Given the description of an element on the screen output the (x, y) to click on. 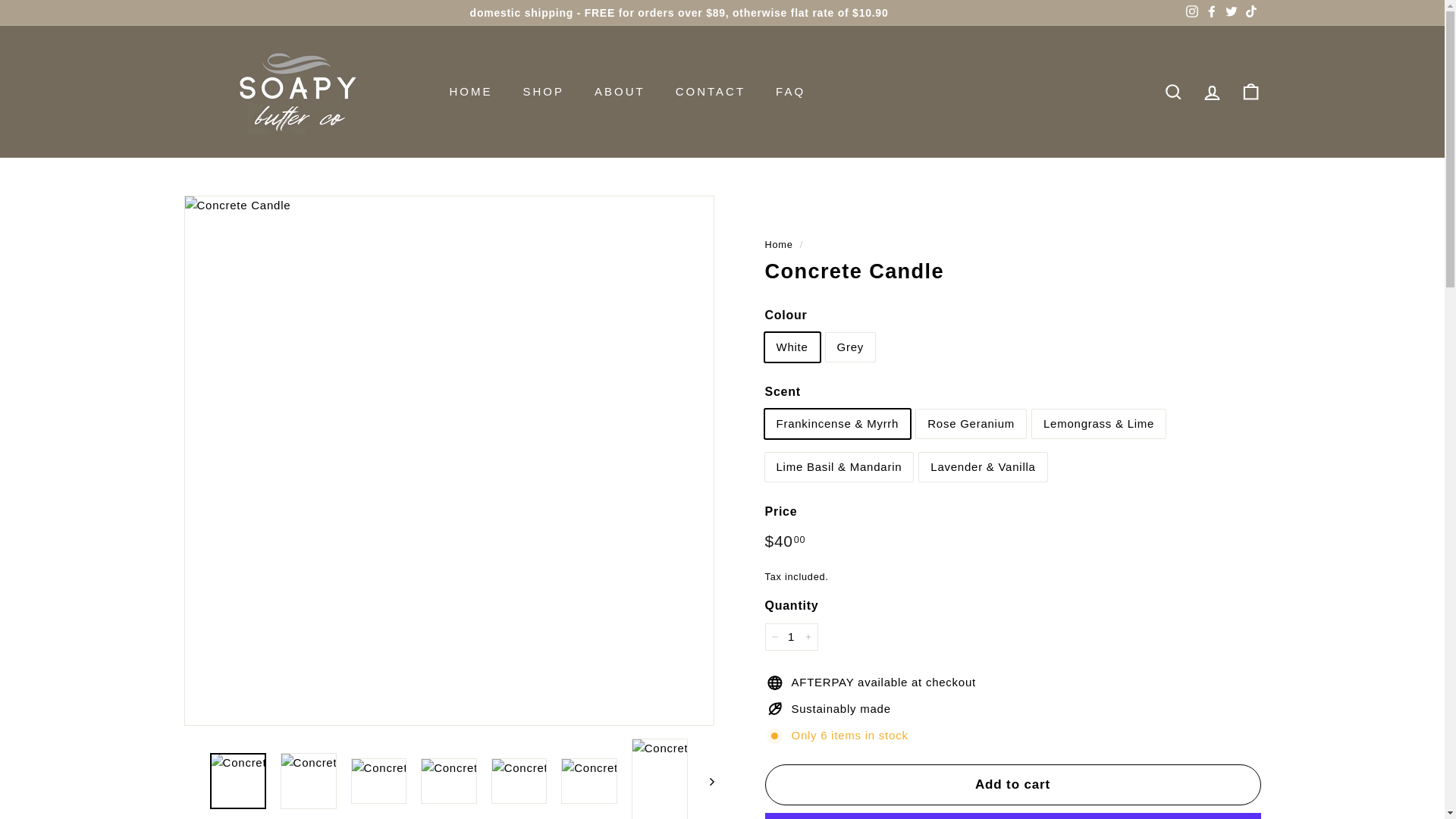
HOME (469, 91)
CONTACT (710, 91)
Back to the frontpage (778, 244)
SHOP (543, 91)
1 (790, 636)
FAQ (790, 91)
ABOUT (620, 91)
